Given the description of an element on the screen output the (x, y) to click on. 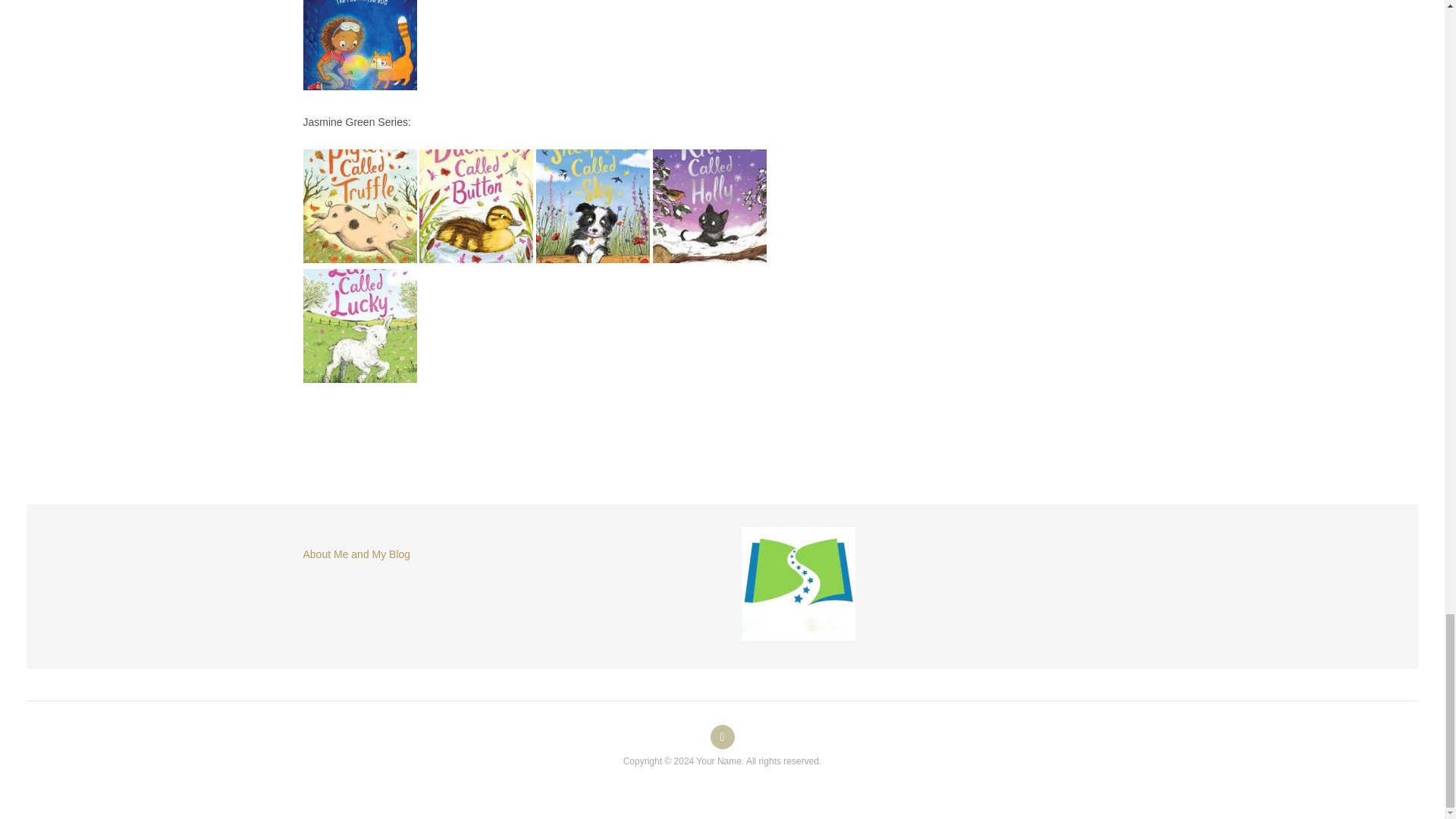
About Me and My Blog (356, 553)
About Me and My Blog (721, 736)
